Given the description of an element on the screen output the (x, y) to click on. 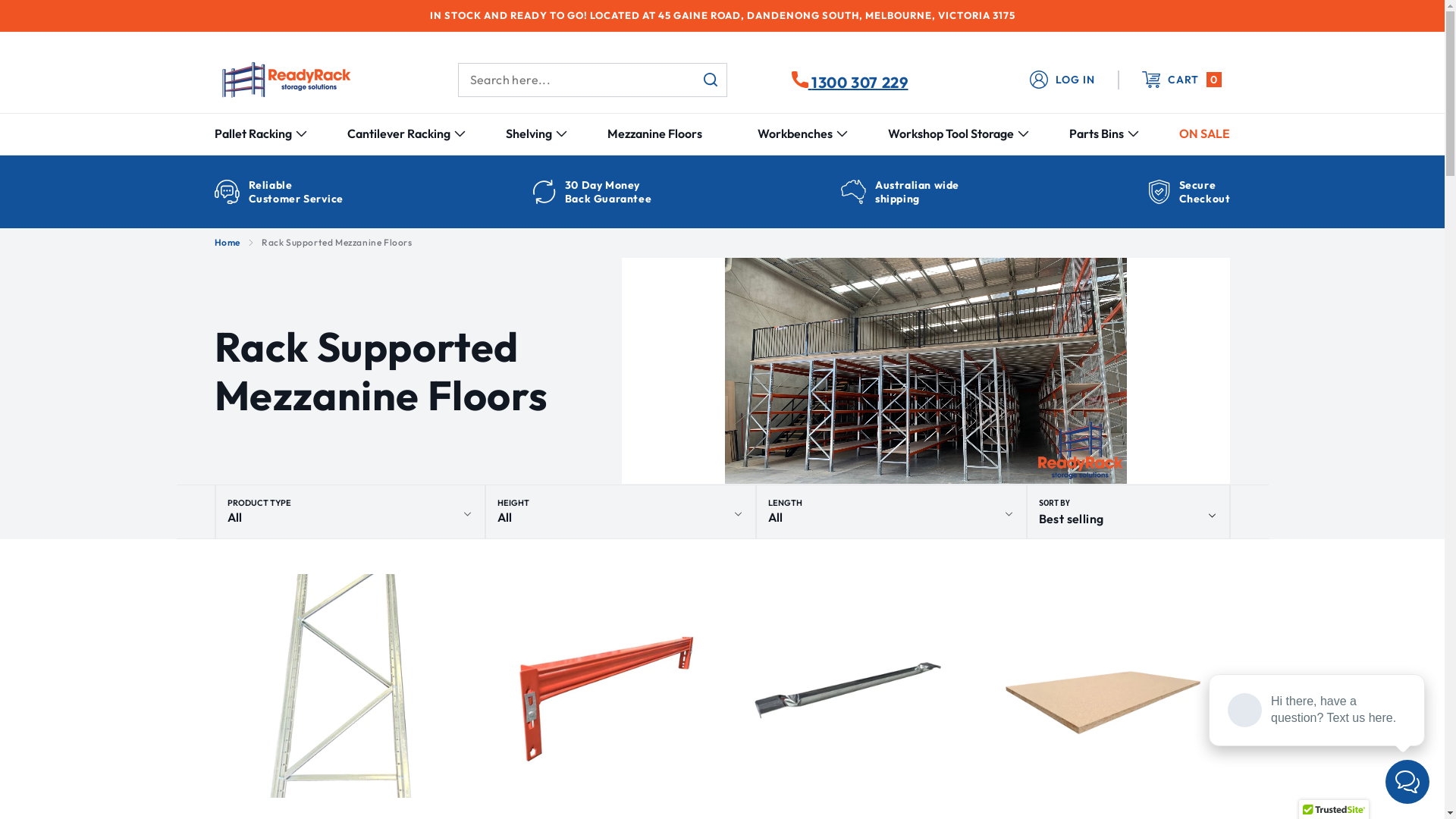
Shelving Element type: text (528, 133)
Parts Bins Element type: text (1096, 133)
Workshop Tool Storage Element type: text (950, 133)
Home Element type: text (226, 242)
LOG IN Element type: text (1062, 79)
Workbenches Element type: text (794, 133)
Cantilever Racking Element type: text (398, 133)
CART
0
0 ITEMS Element type: text (1173, 79)
Pallet Racking Element type: text (252, 133)
ON SALE Element type: text (1204, 133)
Mezzanine Floors Element type: text (654, 133)
1300 307 229 Element type: text (849, 79)
